Given the description of an element on the screen output the (x, y) to click on. 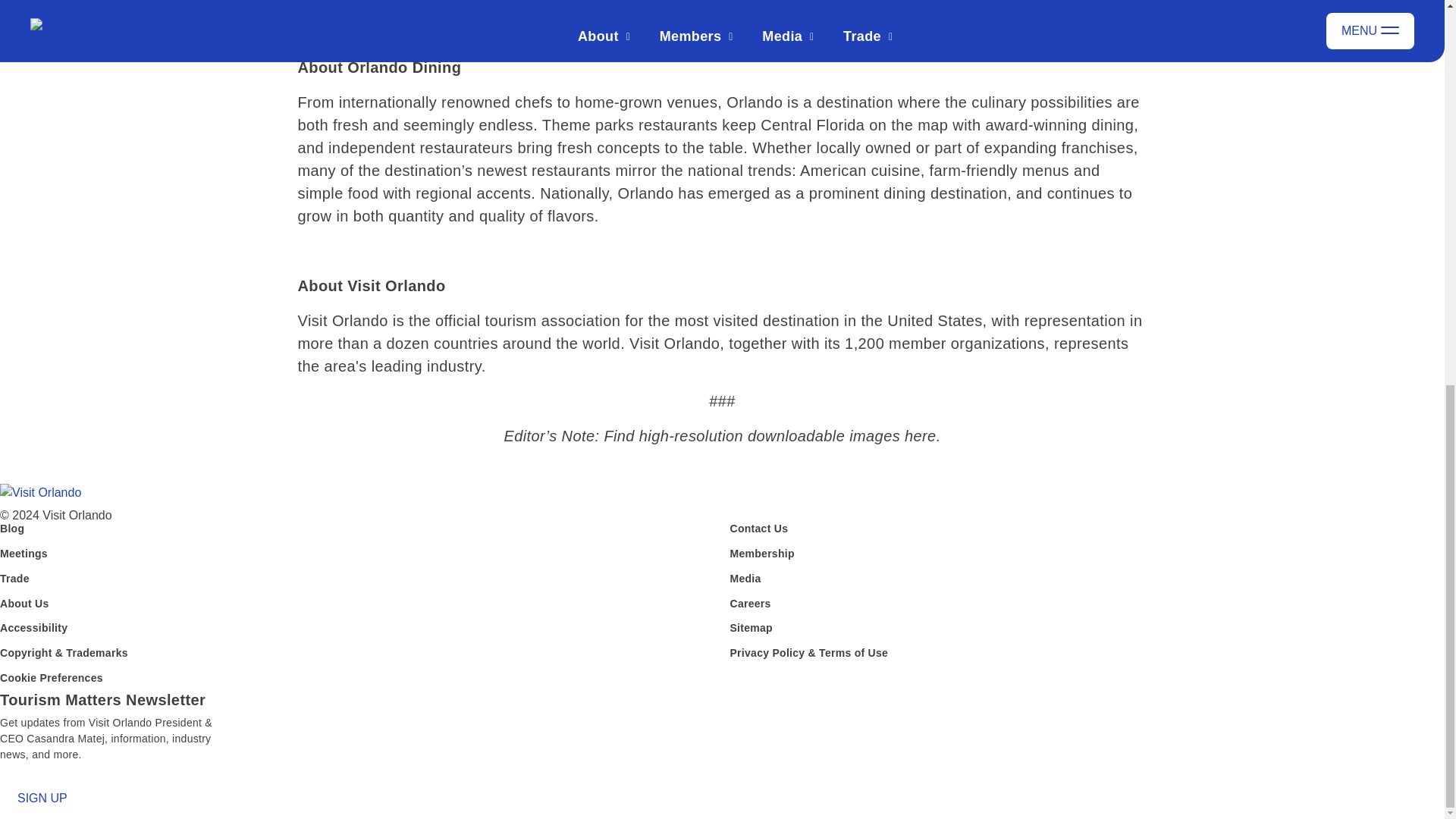
Meetings (24, 556)
Accessibility (33, 630)
Membership (761, 556)
Contact Us (758, 531)
Blog (12, 531)
Sitemap (750, 630)
About Us (24, 606)
Careers (749, 606)
Trade (14, 581)
Media (744, 581)
